Given the description of an element on the screen output the (x, y) to click on. 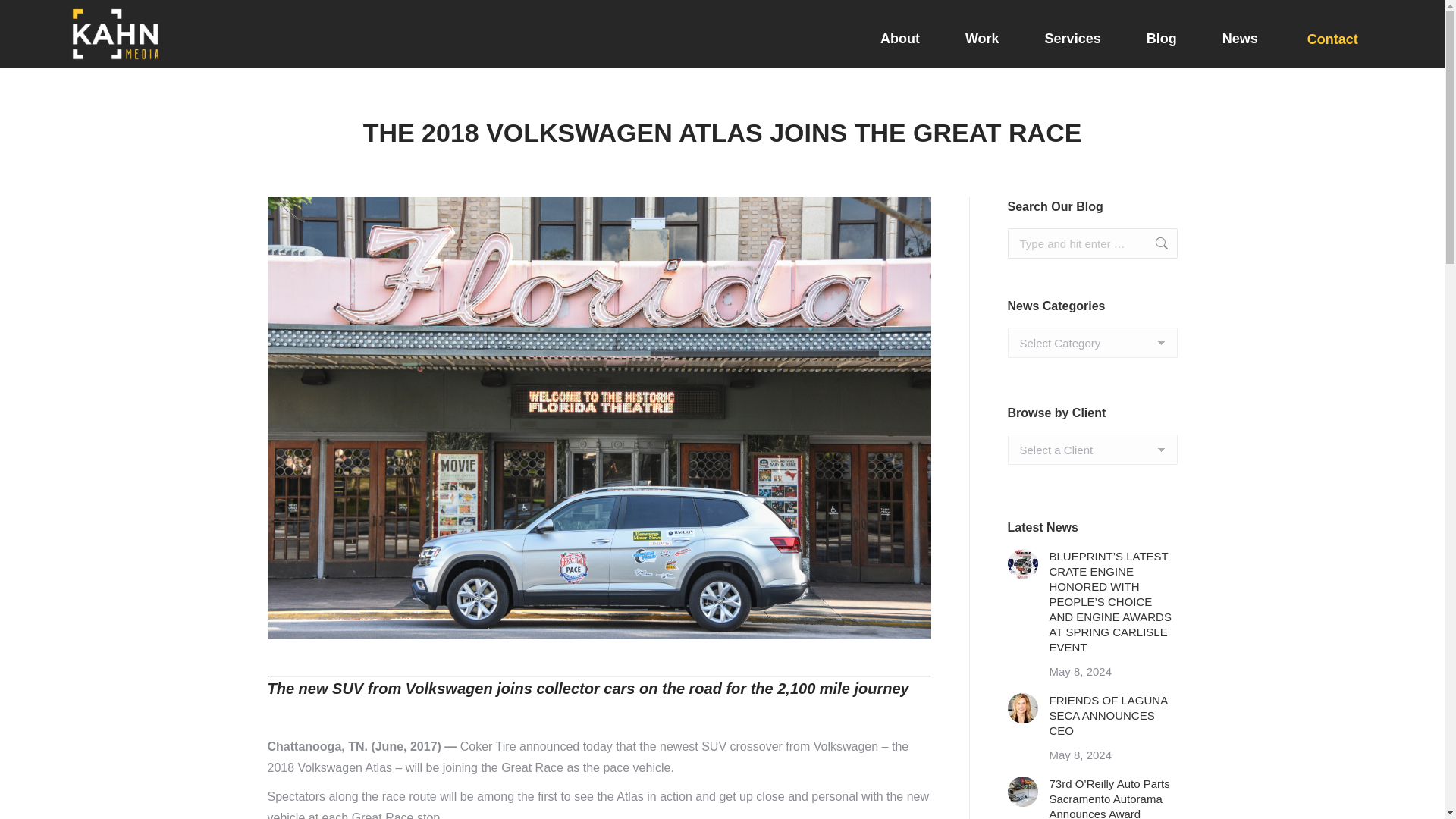
Services (1072, 38)
About (899, 38)
Work (982, 38)
News (1239, 38)
Blog (1161, 38)
Contact (1313, 33)
Go! (1153, 243)
Go! (1153, 243)
